Given the description of an element on the screen output the (x, y) to click on. 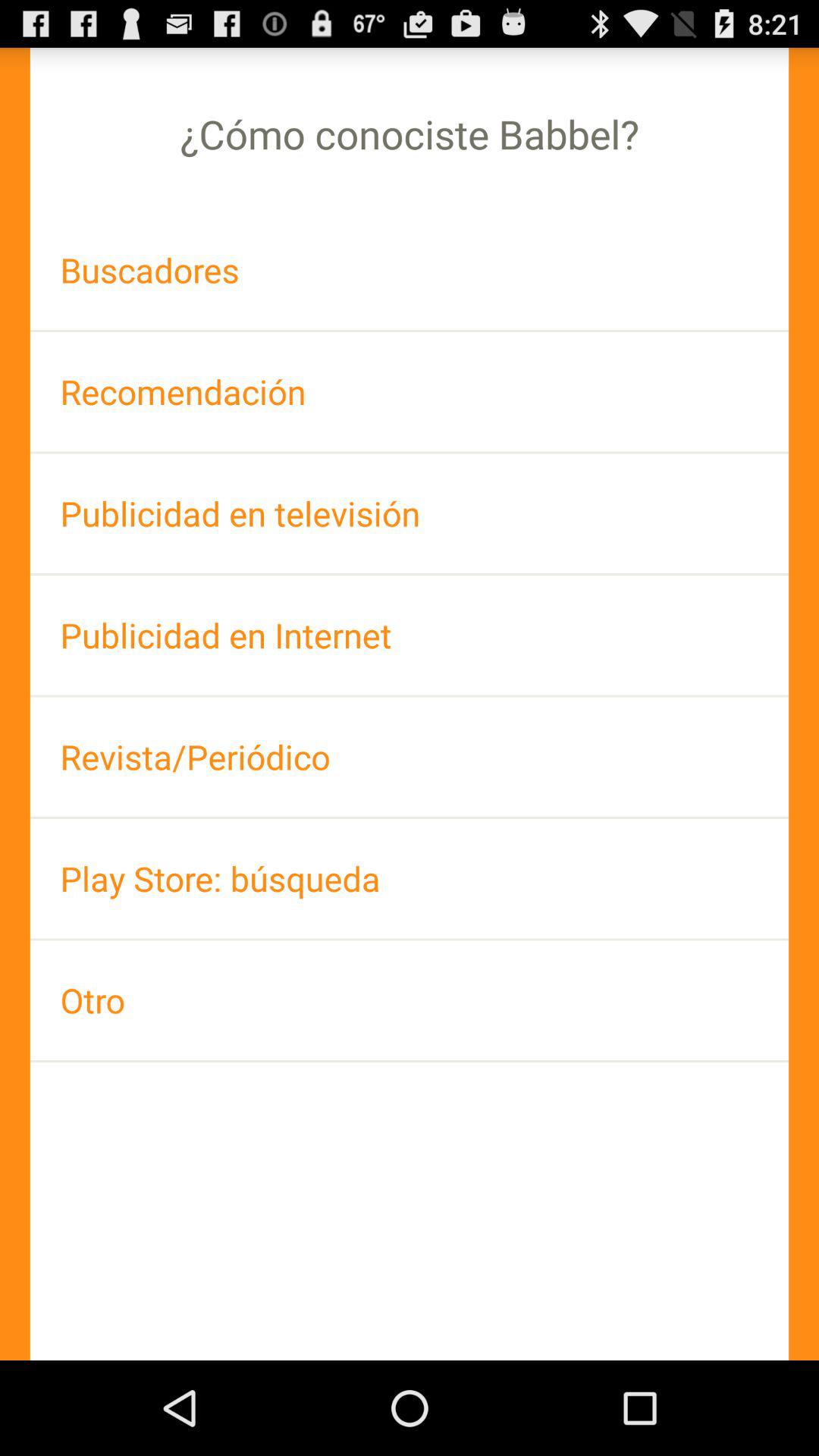
open icon below buscadores app (409, 391)
